Given the description of an element on the screen output the (x, y) to click on. 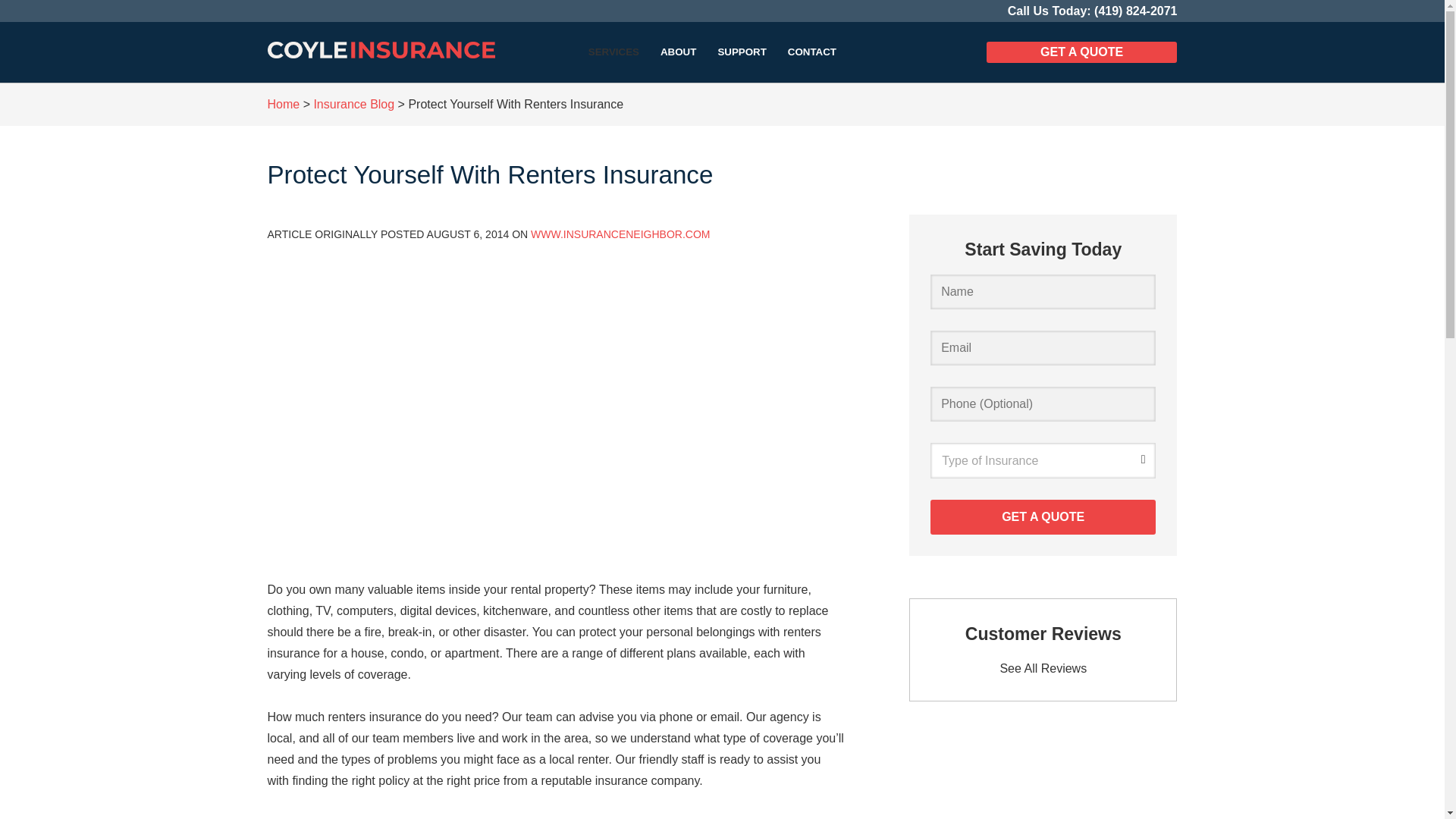
SUPPORT (741, 52)
Get A Quote (1043, 516)
ABOUT (677, 52)
SERVICES (613, 52)
CONTACT (812, 52)
